Given the description of an element on the screen output the (x, y) to click on. 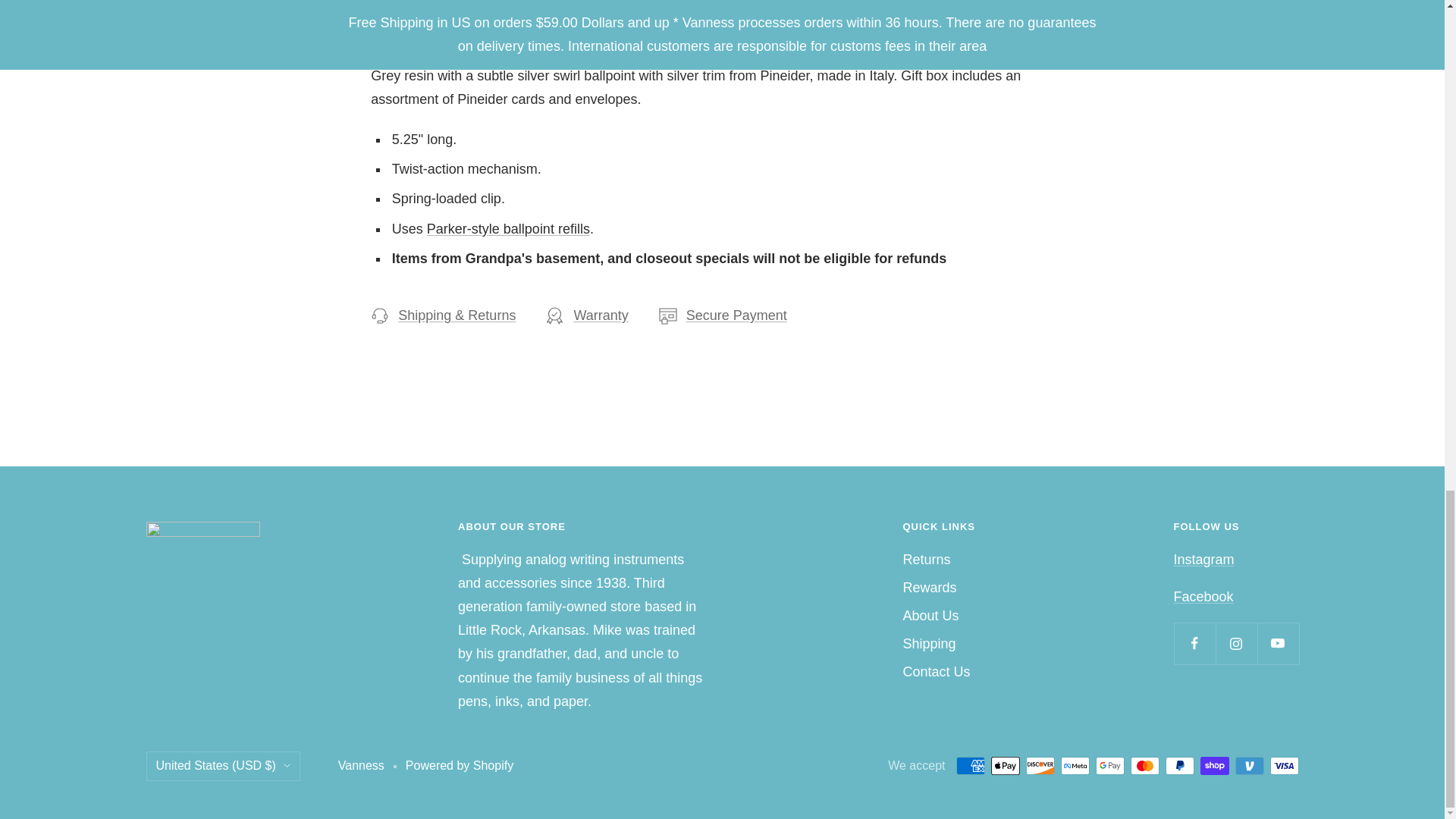
Parker-style ballpoint refills (507, 228)
Vanness1938 (1203, 596)
